Given the description of an element on the screen output the (x, y) to click on. 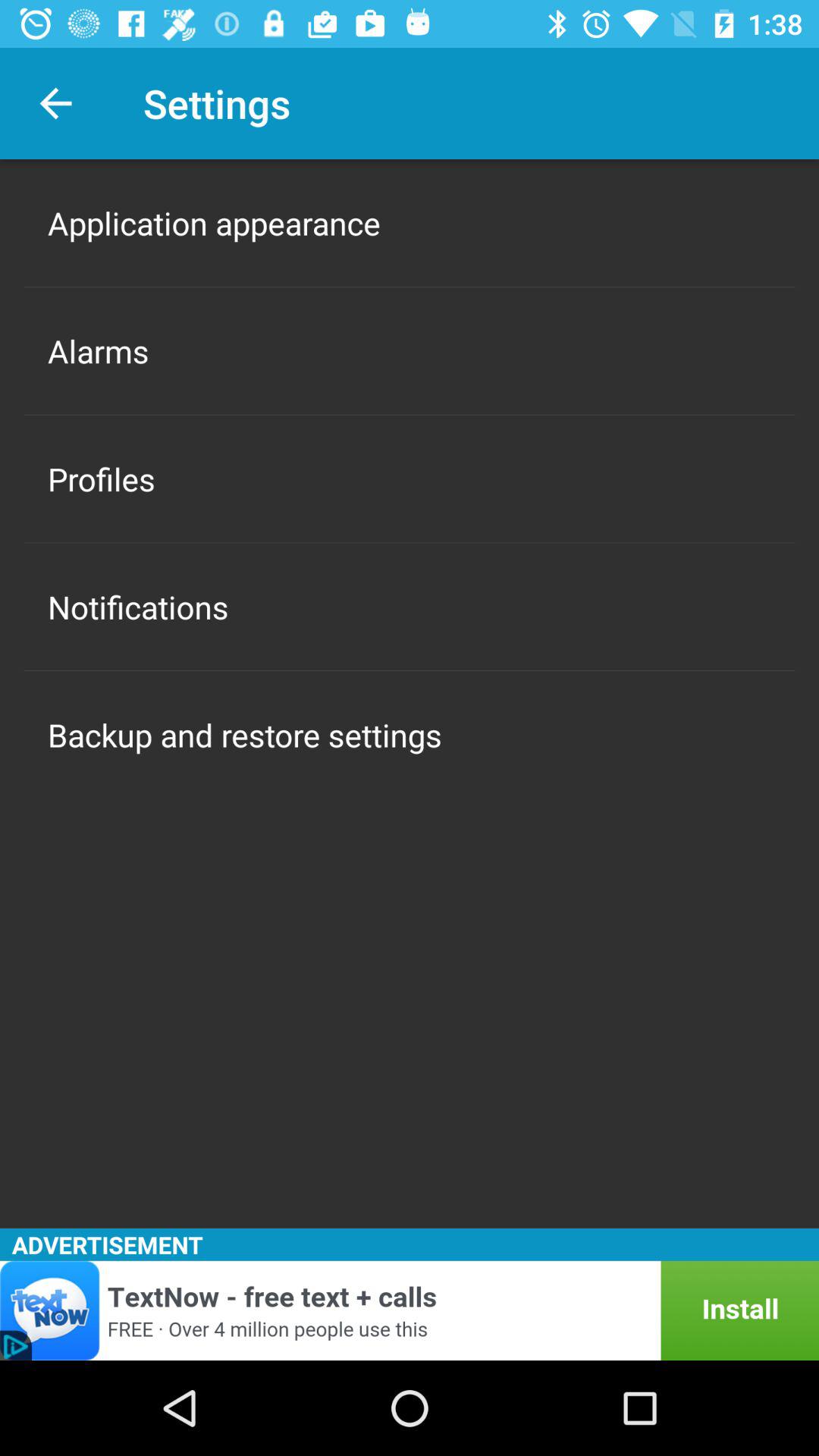
choose icon to the left of the settings (55, 103)
